Given the description of an element on the screen output the (x, y) to click on. 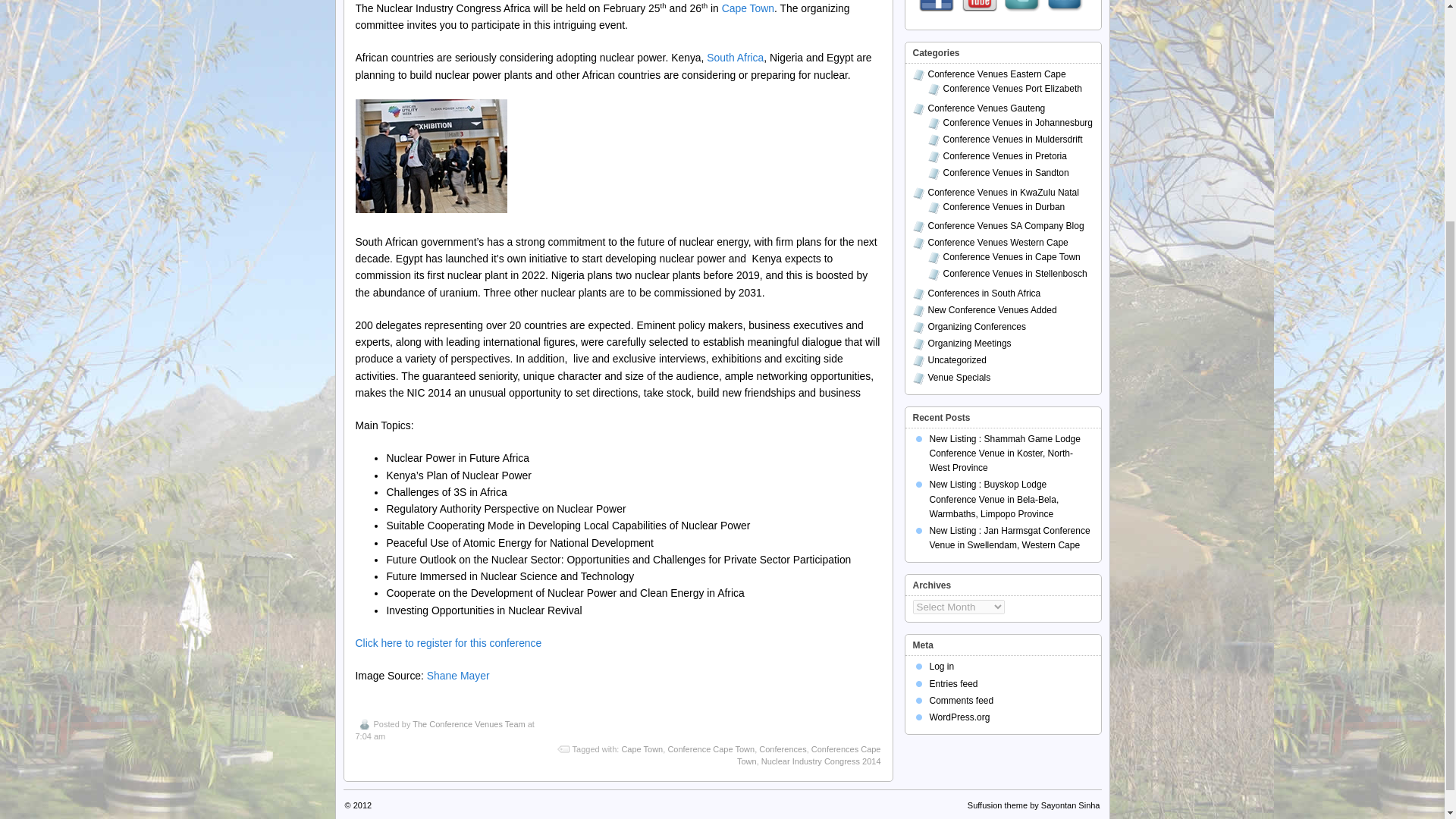
The Conference Venues Team (468, 723)
Conference Venues in Durban (1004, 206)
Nuclear Industry Congress 2014 (820, 760)
Conference Venues Port Elizabeth (1012, 88)
Cape Town (641, 748)
Information on Cape Town (748, 8)
Conference Venues in KwaZulu Natal (1003, 192)
 Shane Mayer (456, 675)
Click here to register for this conference (448, 643)
Conference Venues in Sandton (1005, 172)
